Given the description of an element on the screen output the (x, y) to click on. 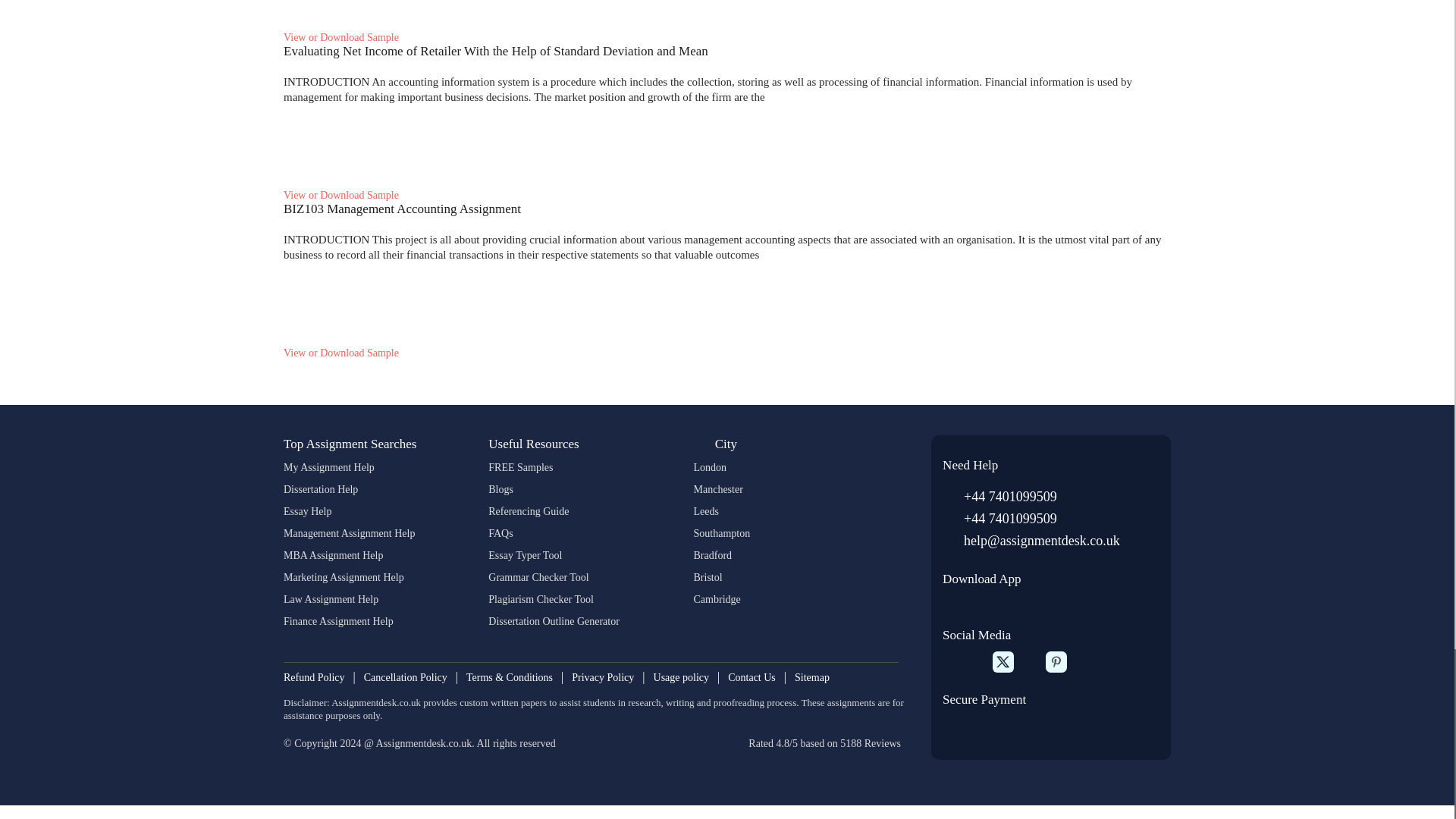
DMCA.com Protection Status (362, 767)
